Given the description of an element on the screen output the (x, y) to click on. 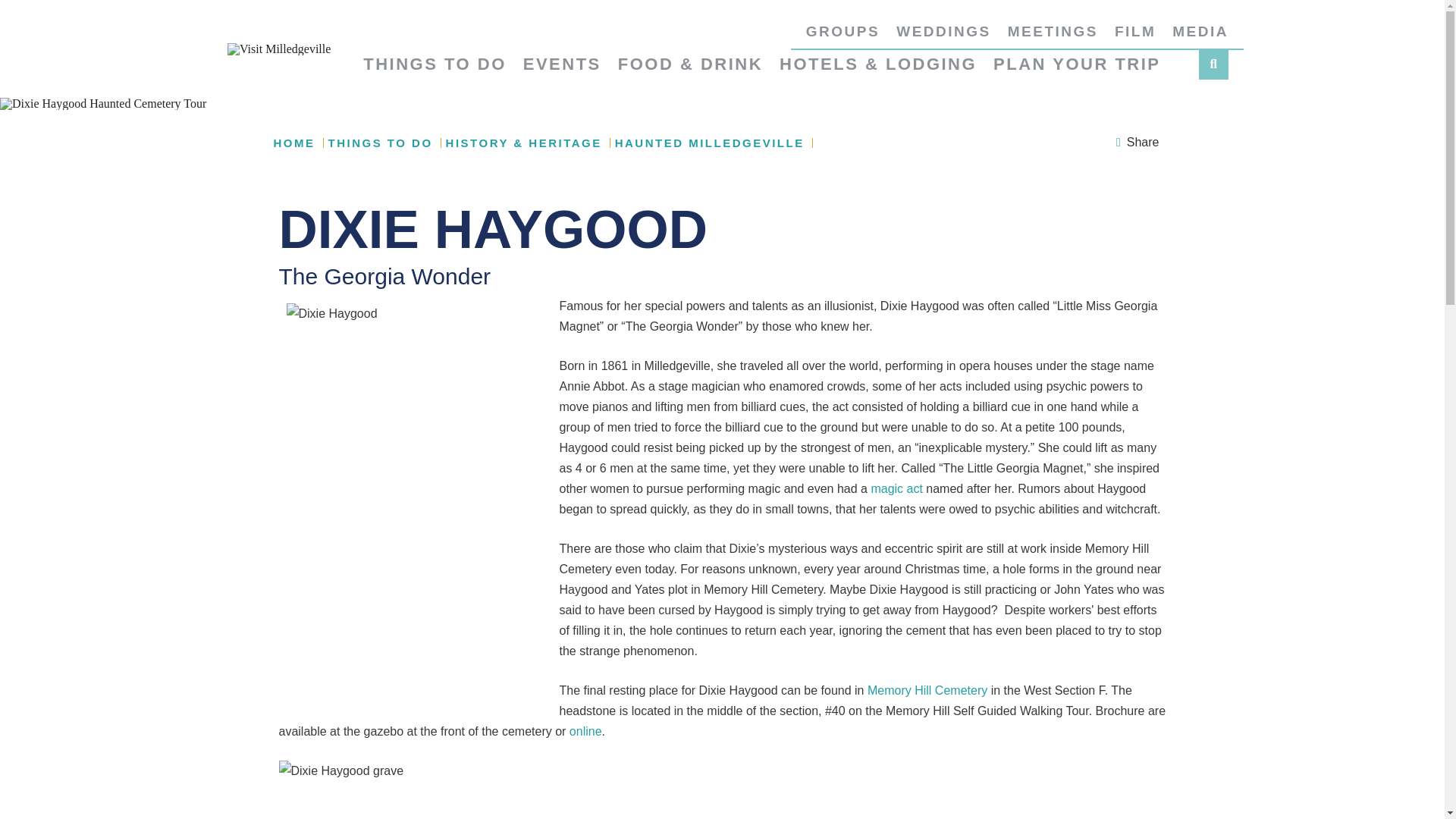
FILM (1135, 36)
THINGS TO DO (434, 71)
Media (1200, 36)
MEDIA (1200, 36)
Film (1135, 36)
WEDDINGS (943, 36)
GROUPS (842, 36)
Weddings (943, 36)
Meetings (1052, 36)
MEETINGS (1052, 36)
